Given the description of an element on the screen output the (x, y) to click on. 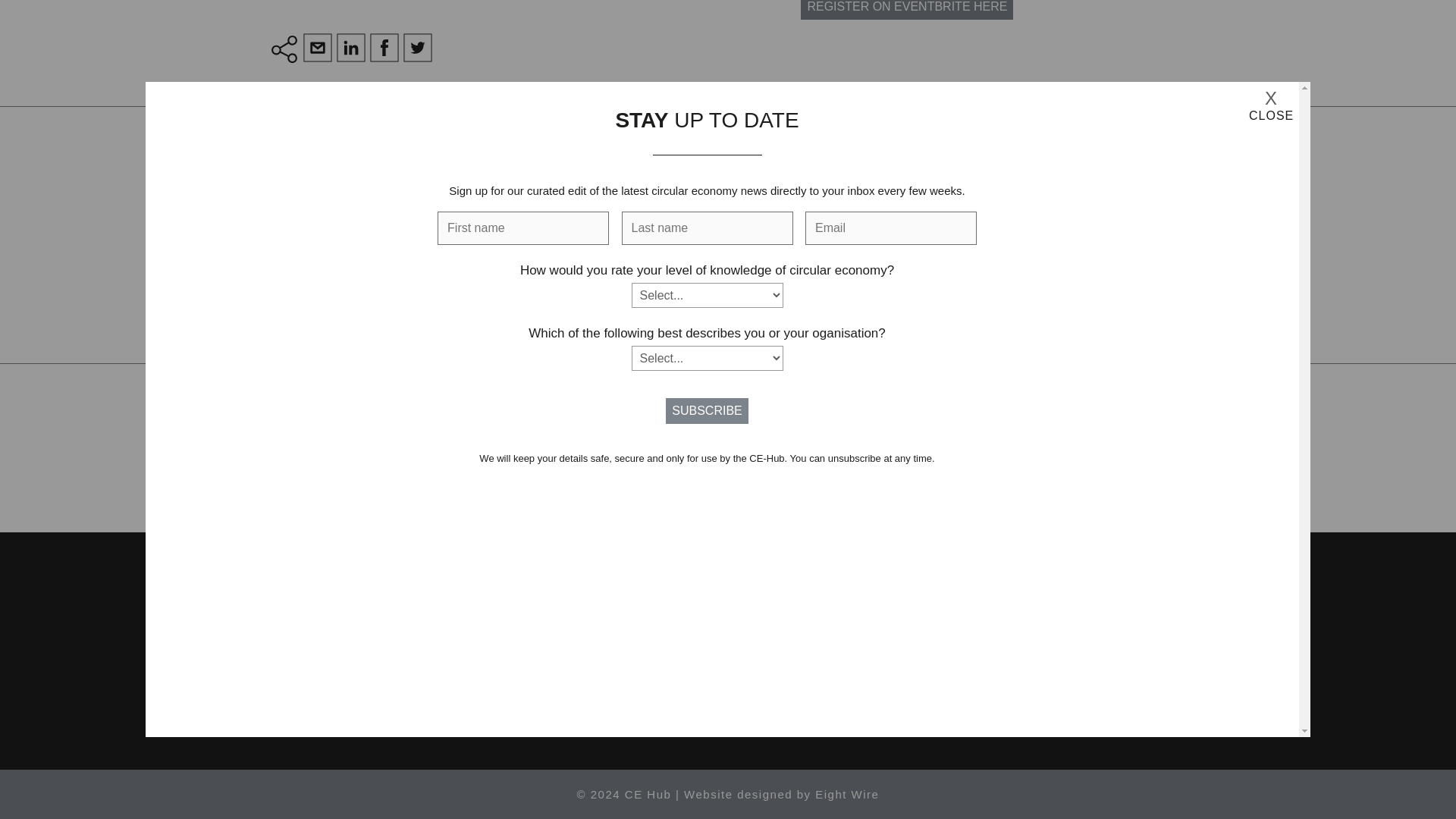
Share on Twitter (419, 49)
Share by email (319, 49)
Share on Facebook (386, 49)
Share on LinkedIn (352, 49)
